Given the description of an element on the screen output the (x, y) to click on. 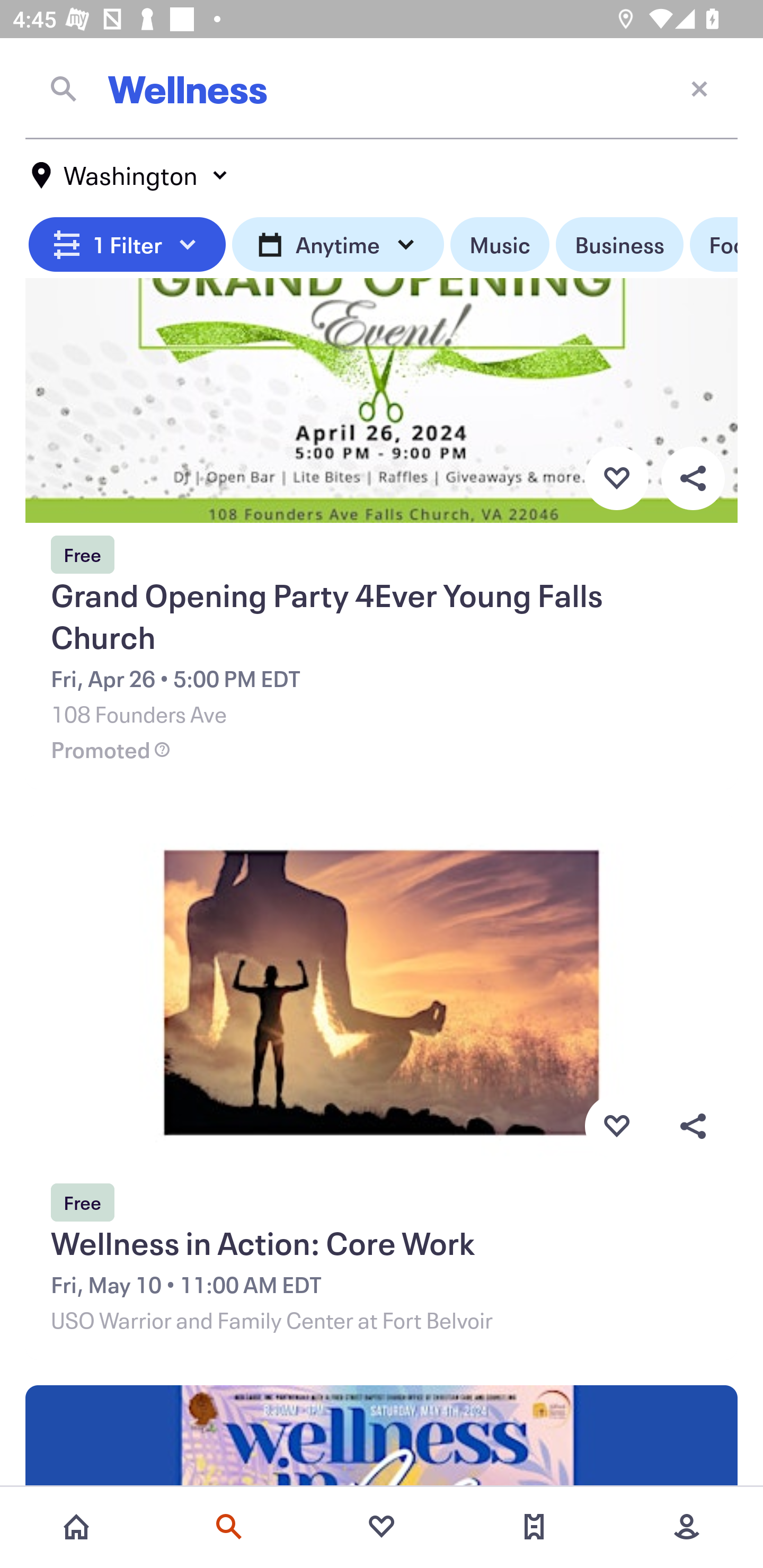
Wellness Close current screen (381, 88)
Close current screen (699, 88)
Washington (130, 175)
Favorite button (616, 477)
Overflow menu button (692, 477)
Favorite button (616, 1126)
Overflow menu button (692, 1126)
Home (76, 1526)
Search events (228, 1526)
Favorites (381, 1526)
Tickets (533, 1526)
More (686, 1526)
